Given the description of an element on the screen output the (x, y) to click on. 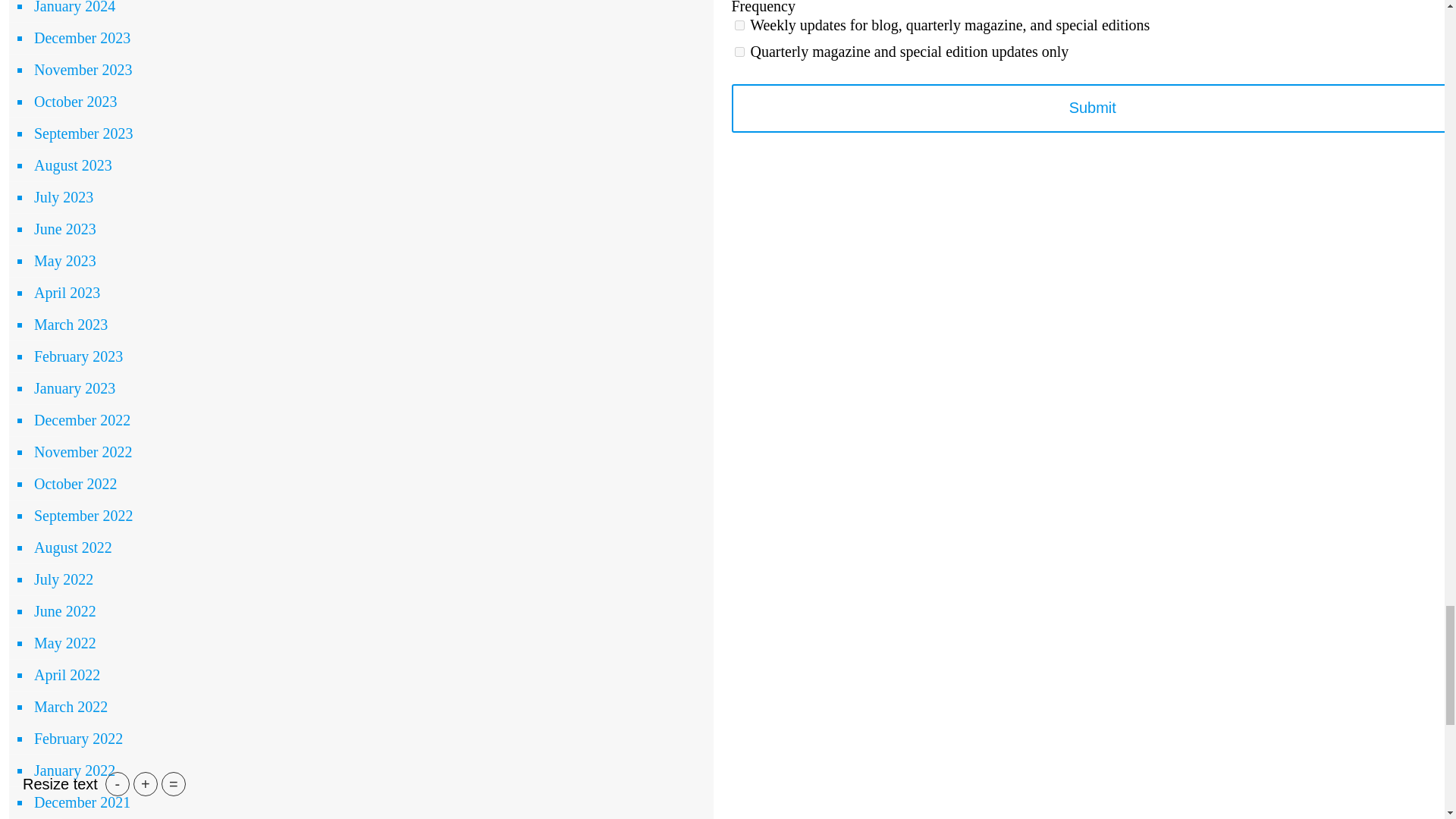
80af137680 (738, 25)
fb85e3644c (738, 51)
